Given the description of an element on the screen output the (x, y) to click on. 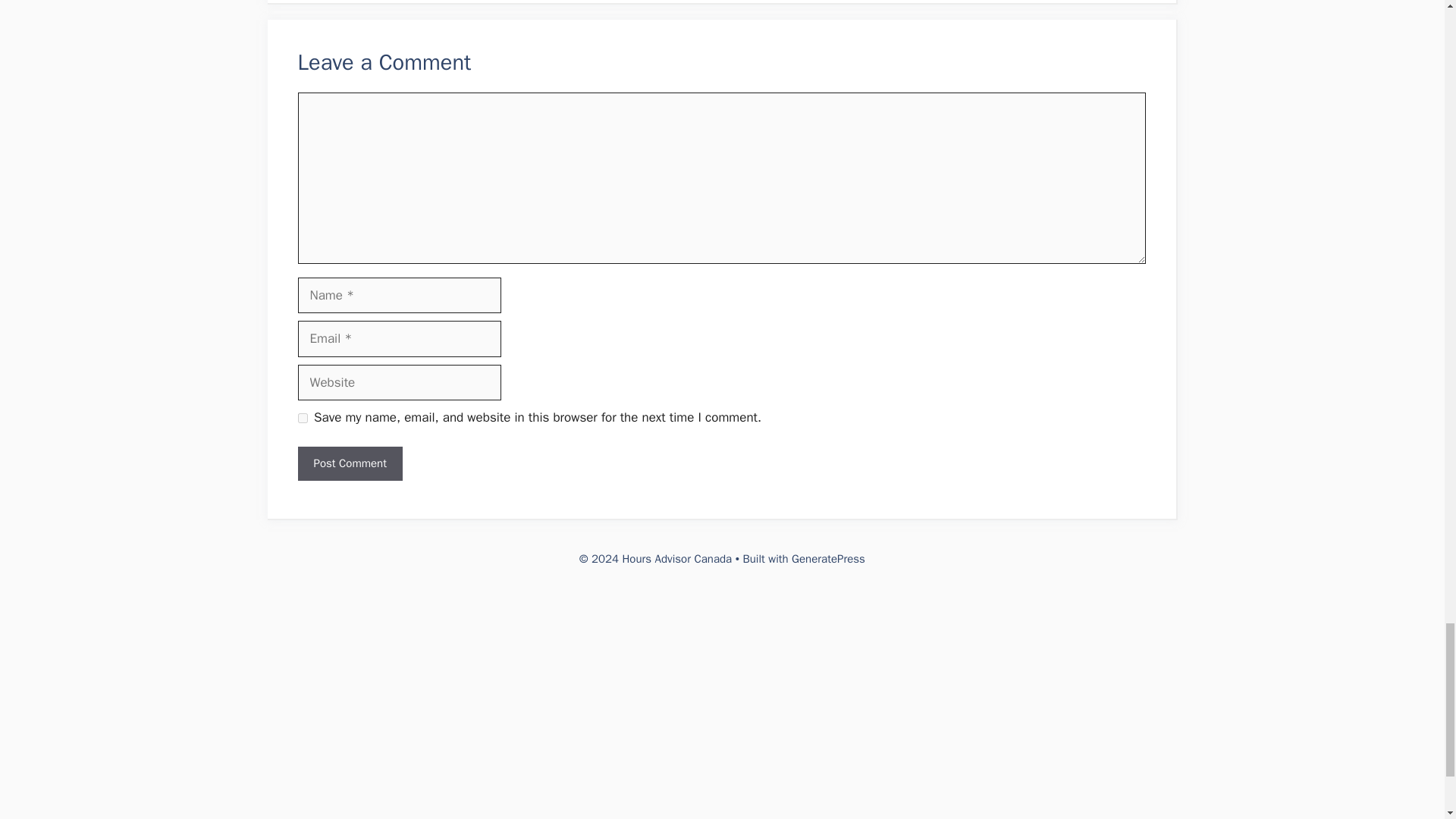
Post Comment (349, 463)
GeneratePress (828, 558)
yes (302, 418)
Post Comment (349, 463)
